Given the description of an element on the screen output the (x, y) to click on. 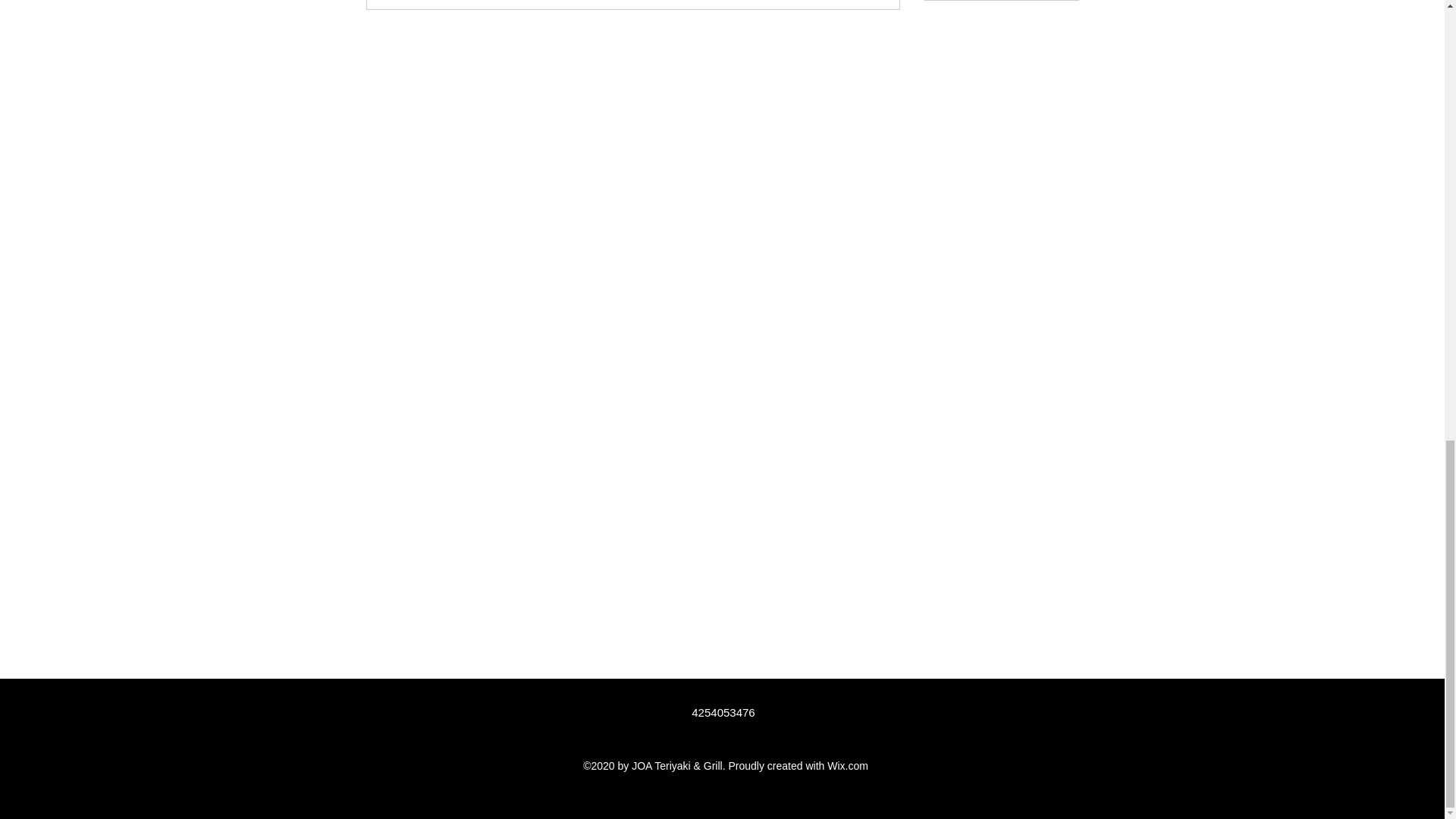
Write a comment... (632, 4)
